Given the description of an element on the screen output the (x, y) to click on. 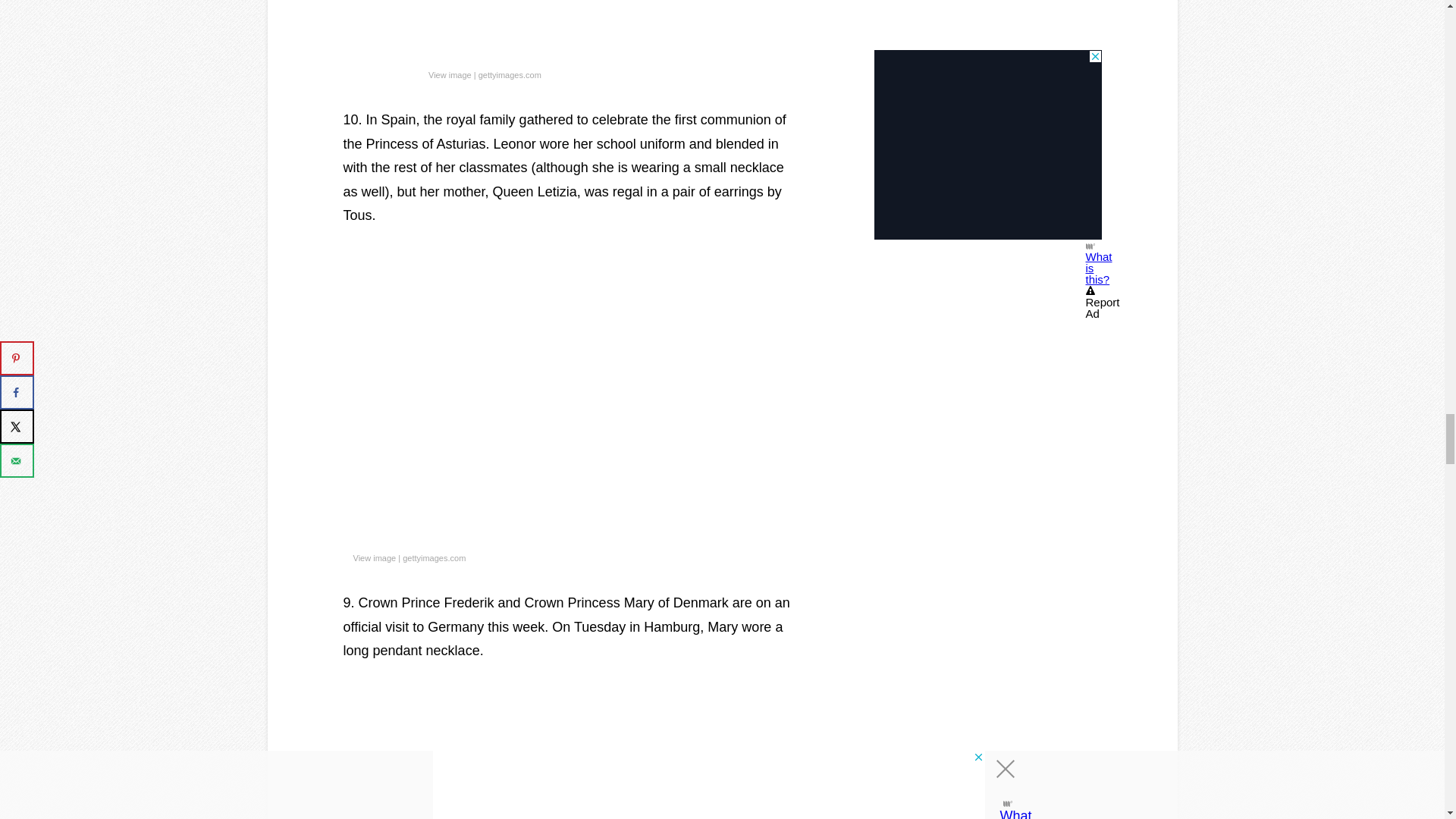
View image (449, 75)
View image (374, 557)
gettyimages.com (434, 557)
gettyimages.com (510, 75)
